Given the description of an element on the screen output the (x, y) to click on. 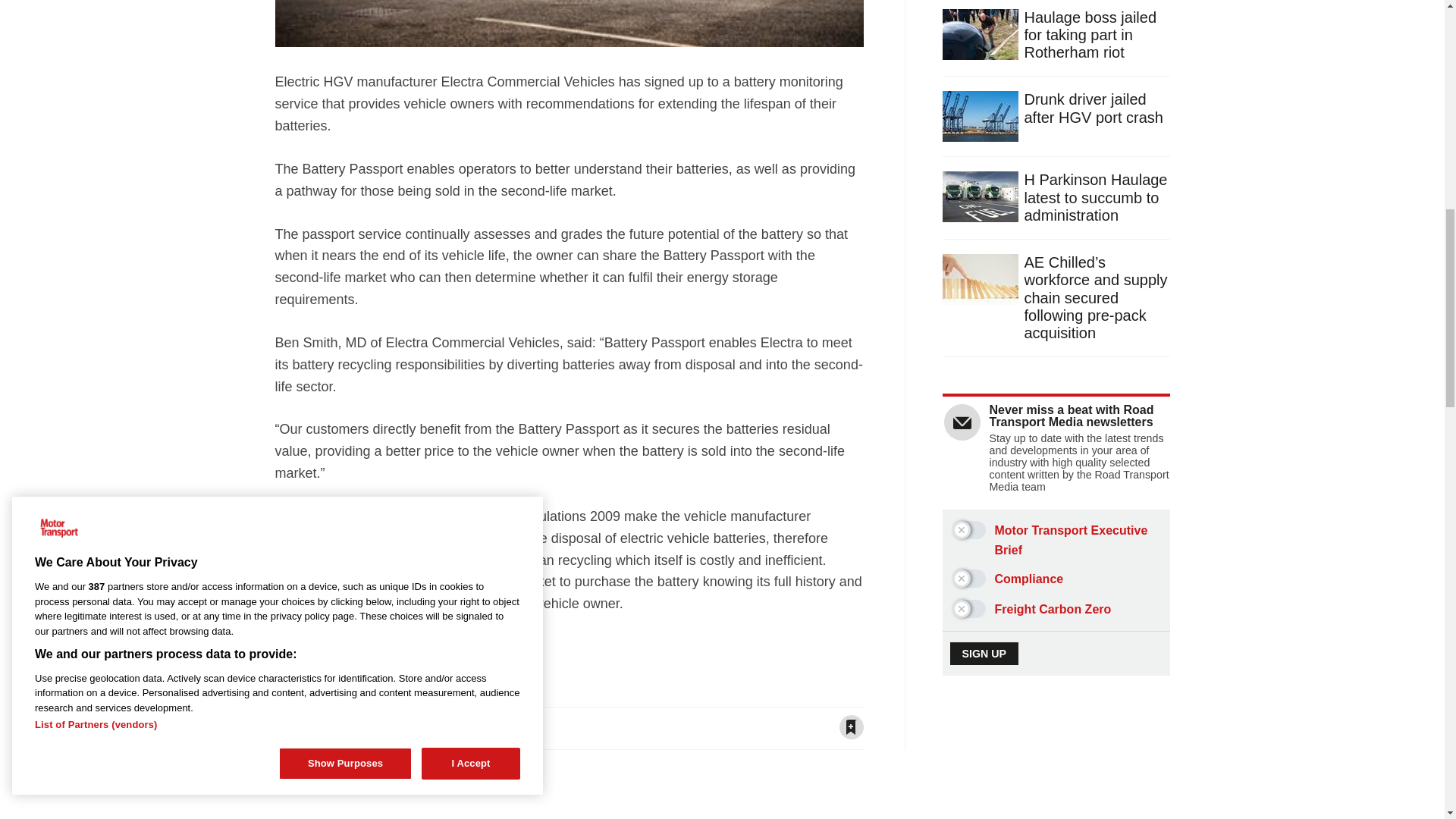
Share this on Linked in (345, 726)
Share this on Facebook (286, 726)
Email this article (376, 726)
3rd party ad content (1056, 777)
Share this on Twitter (316, 726)
